Given the description of an element on the screen output the (x, y) to click on. 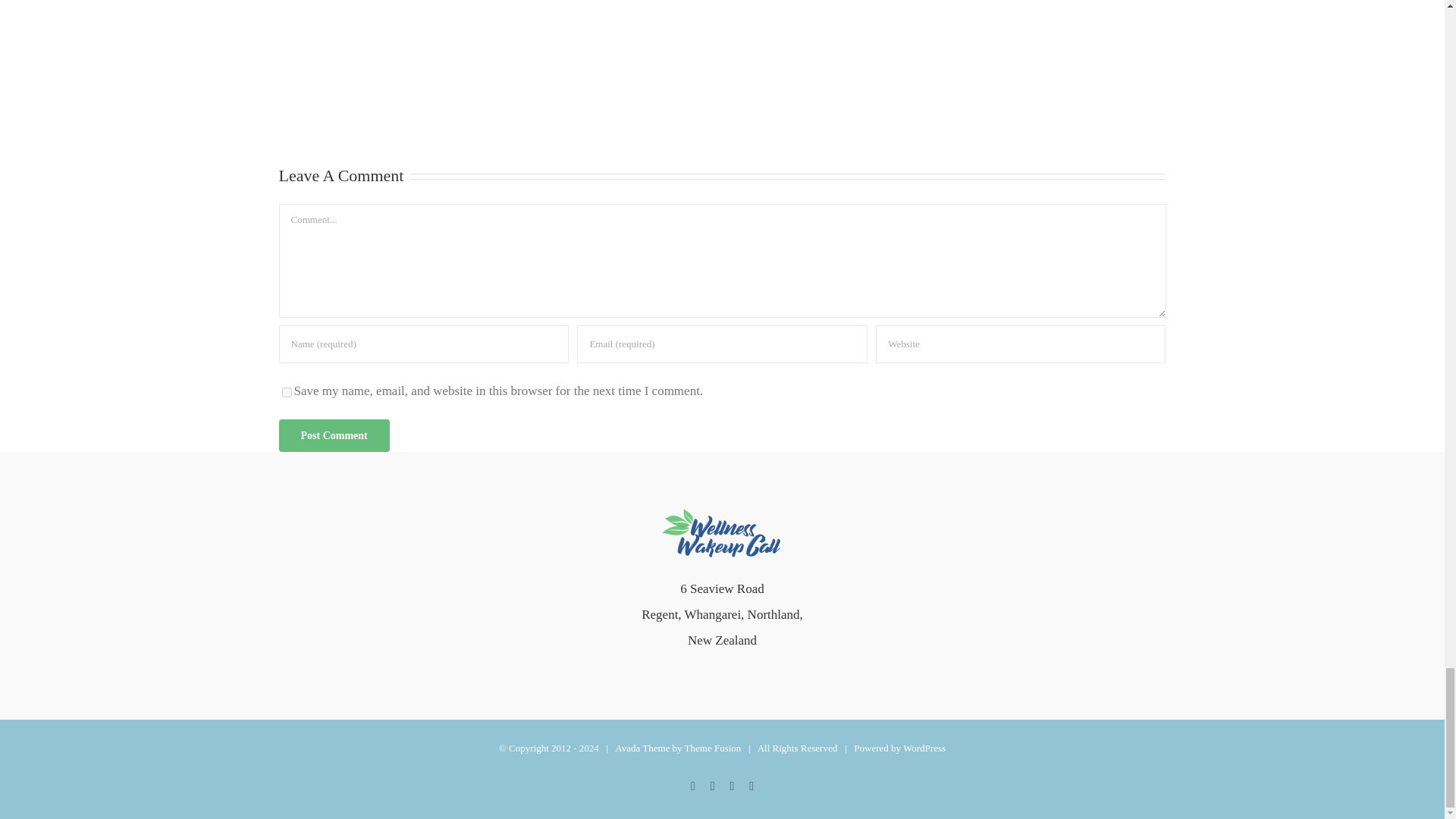
yes (287, 392)
Post Comment (334, 435)
